Given the description of an element on the screen output the (x, y) to click on. 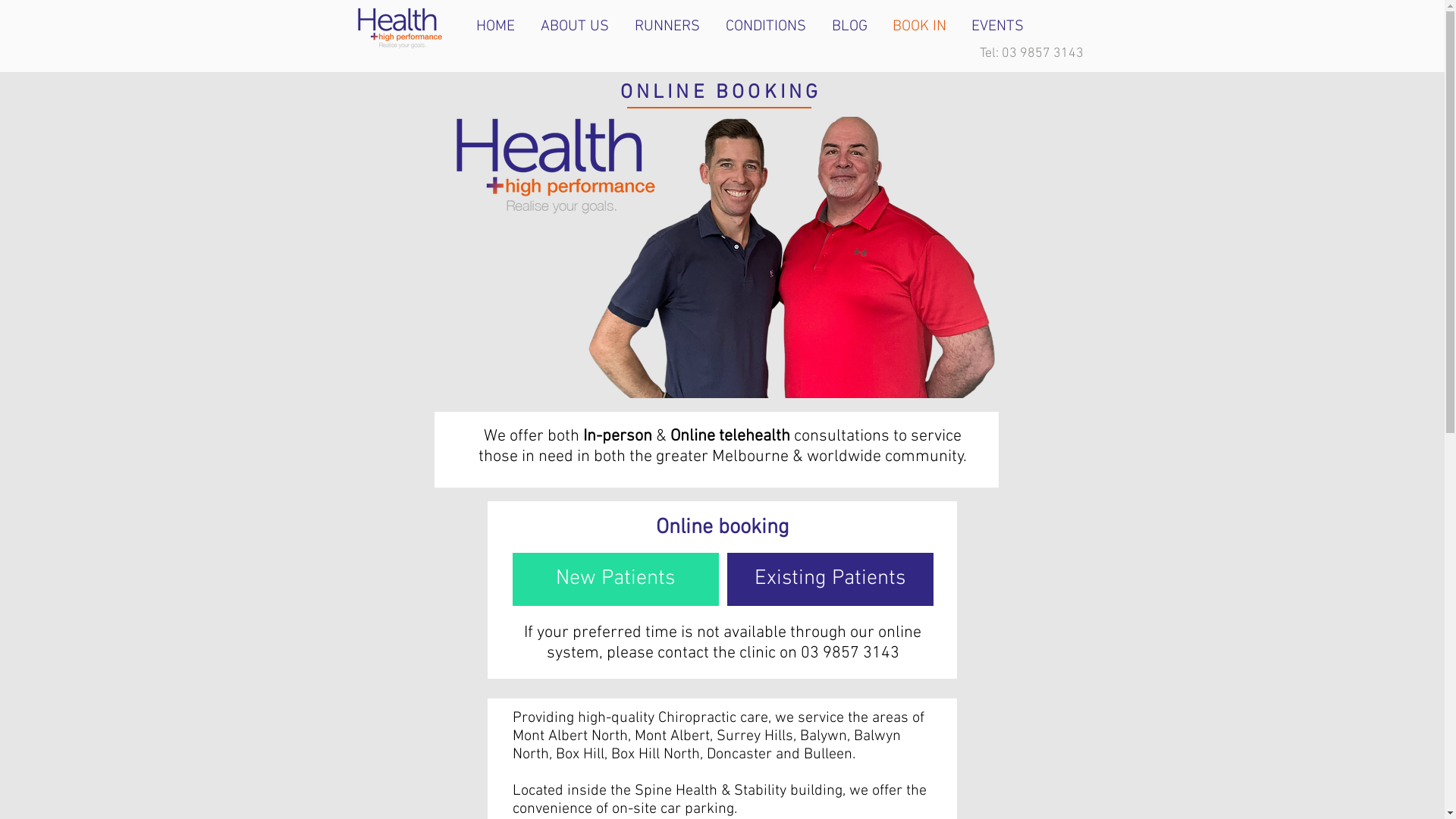
HOME Element type: text (496, 26)
Existing Patients Element type: text (829, 578)
CONDITIONS Element type: text (767, 26)
New Patients Element type: text (615, 578)
BOOK IN Element type: text (920, 26)
RUNNERS Element type: text (668, 26)
EVENTS Element type: text (998, 26)
BLOG Element type: text (850, 26)
ABOUT US Element type: text (576, 26)
